Given the description of an element on the screen output the (x, y) to click on. 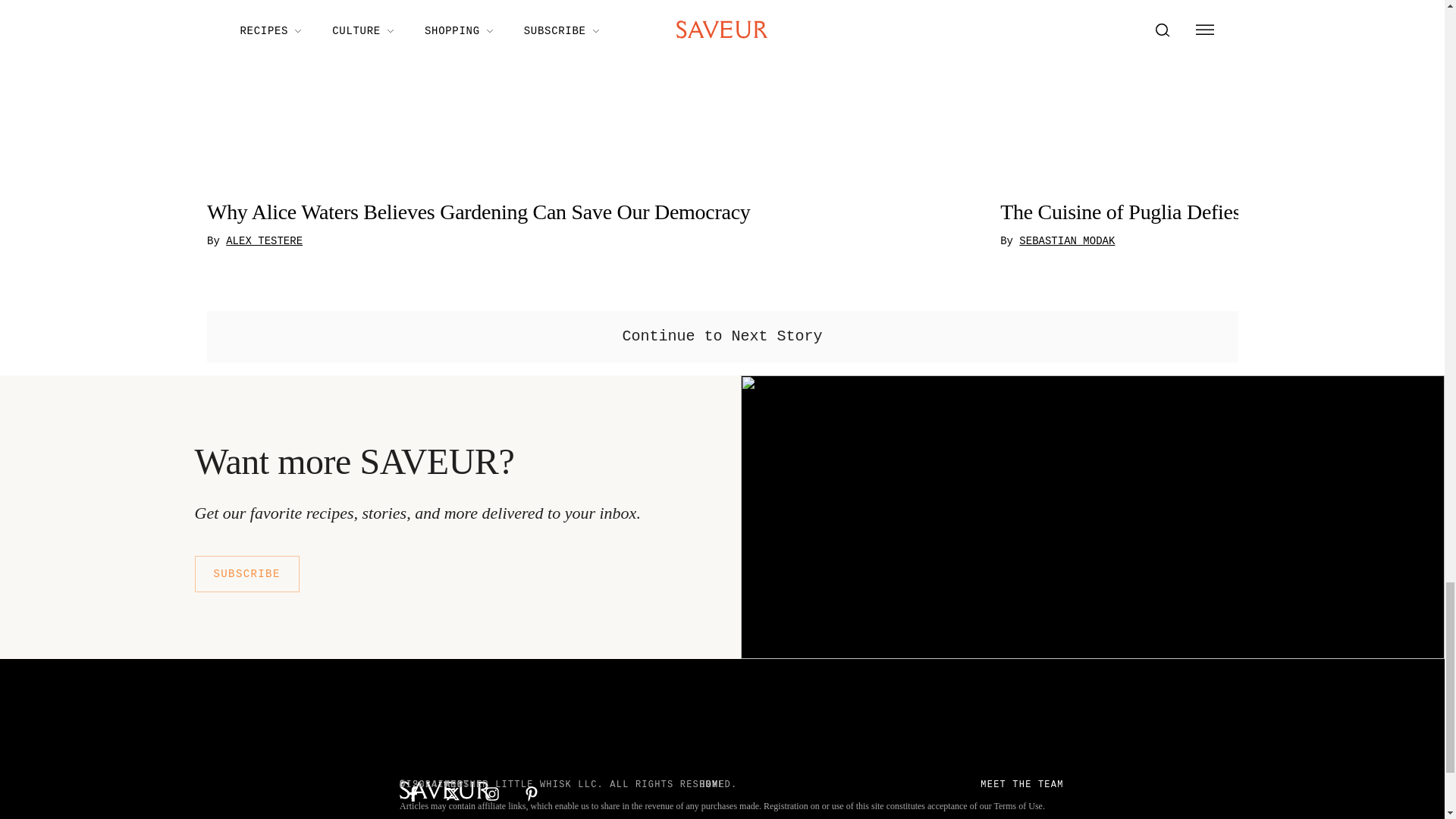
Why Alice Waters Believes Gardening Can Save Our Democracy (595, 212)
SEBASTIAN MODAK (1067, 241)
ALEX TESTERE (263, 241)
